Given the description of an element on the screen output the (x, y) to click on. 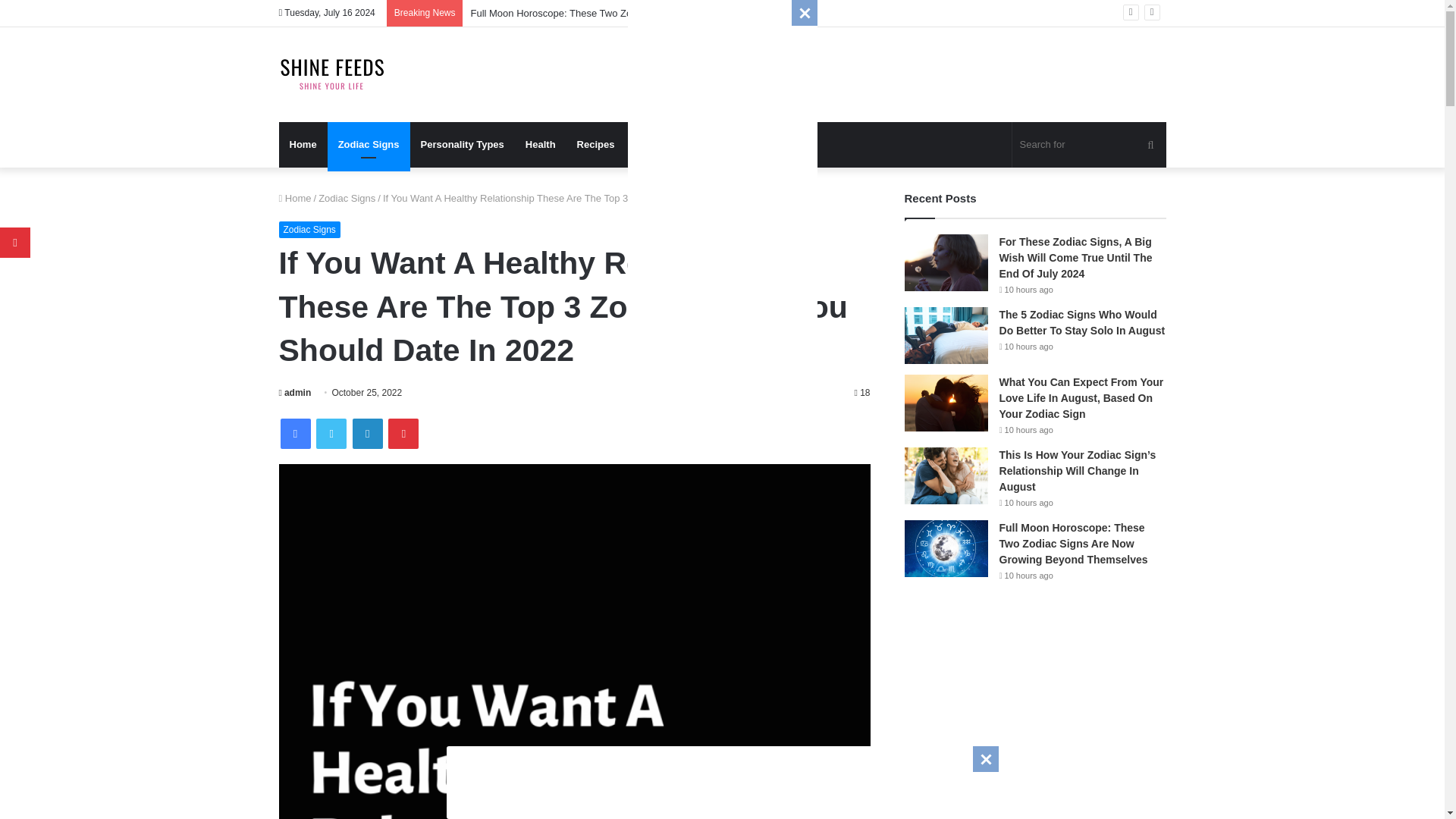
Facebook (296, 433)
Twitter (330, 433)
Zodiac Signs (309, 229)
Zodiac Signs (346, 197)
LinkedIn (367, 433)
Advertisement (721, 227)
Facebook (296, 433)
Advertisement (721, 780)
Pinterest (403, 433)
LinkedIn (367, 433)
Search for (1088, 144)
Zodiac Signs (368, 144)
Search for (1150, 144)
Personality Types (462, 144)
